Given the description of an element on the screen output the (x, y) to click on. 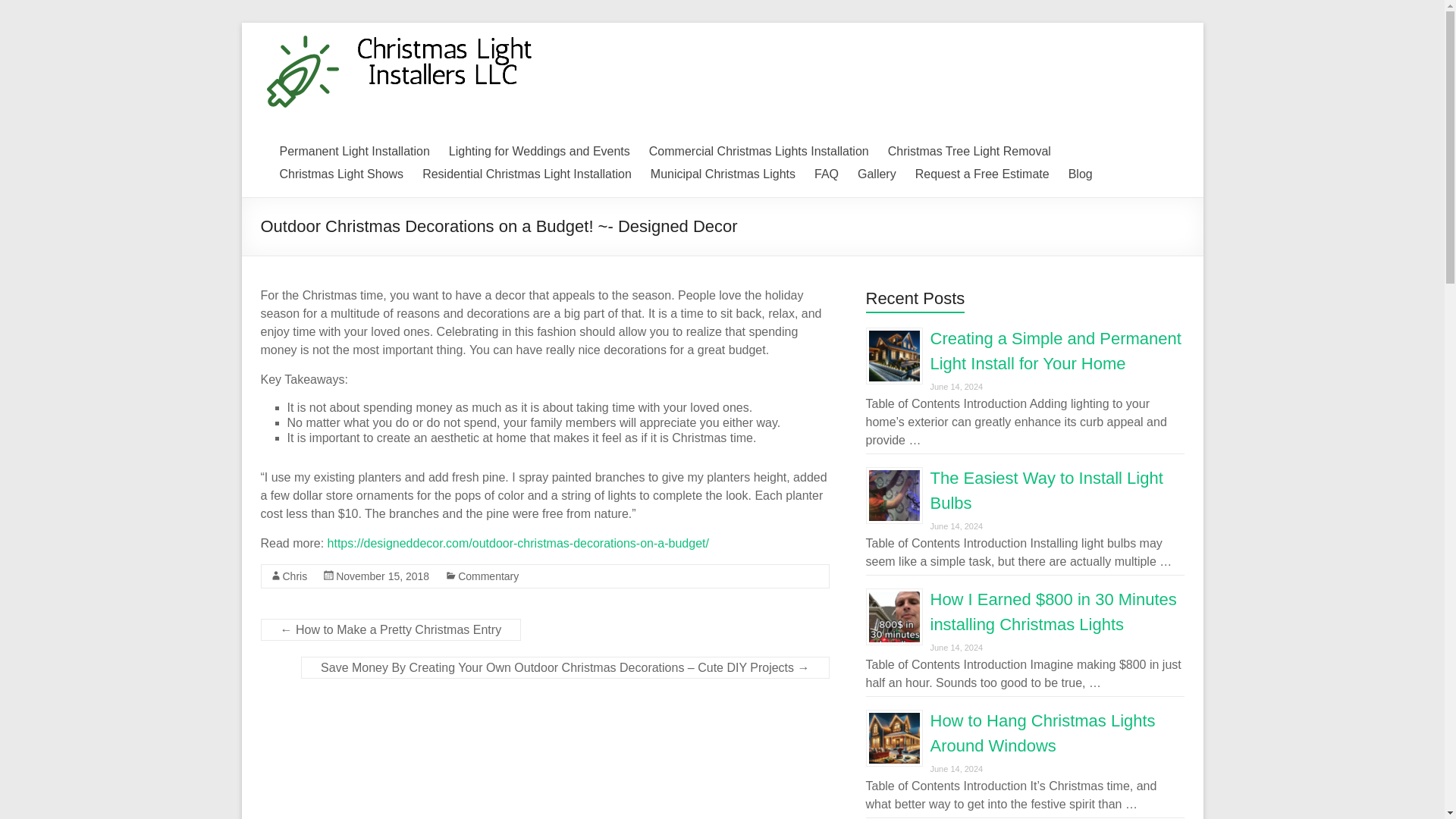
Christmas Light Shows (341, 173)
November 15, 2018 (382, 576)
Residential Christmas Light Installation (526, 173)
Lighting for Weddings and Events (539, 151)
How to Hang Christmas Lights Around Windows (1042, 733)
Creating a Simple and Permanent Light Install for Your Home (1055, 351)
The Easiest Way to Install Light Bulbs (1045, 490)
Permanent Light Installation (354, 151)
Gallery (876, 173)
FAQ (825, 173)
Municipal Christmas Lights (722, 173)
Christmas Light Installers LLC (473, 97)
1:00 pm (382, 576)
Blog (1080, 173)
